Given the description of an element on the screen output the (x, y) to click on. 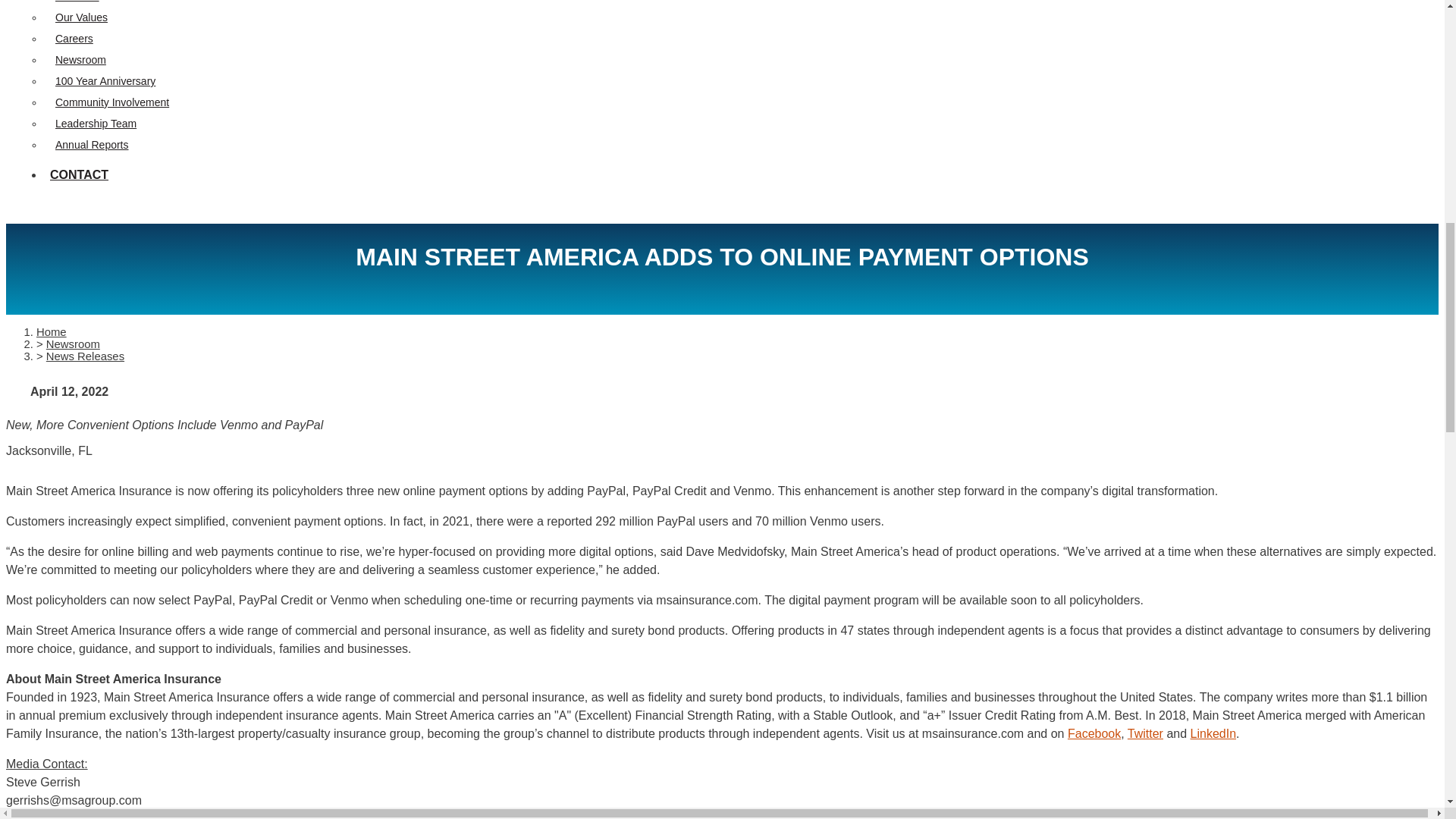
100 Year Anniversary (105, 80)
Annual Reports (92, 144)
Our Values (81, 17)
ABOUT (77, 2)
Community Involvement (111, 102)
About Us (77, 1)
Newsroom (80, 60)
Careers (74, 38)
Leadership Team (95, 123)
